Given the description of an element on the screen output the (x, y) to click on. 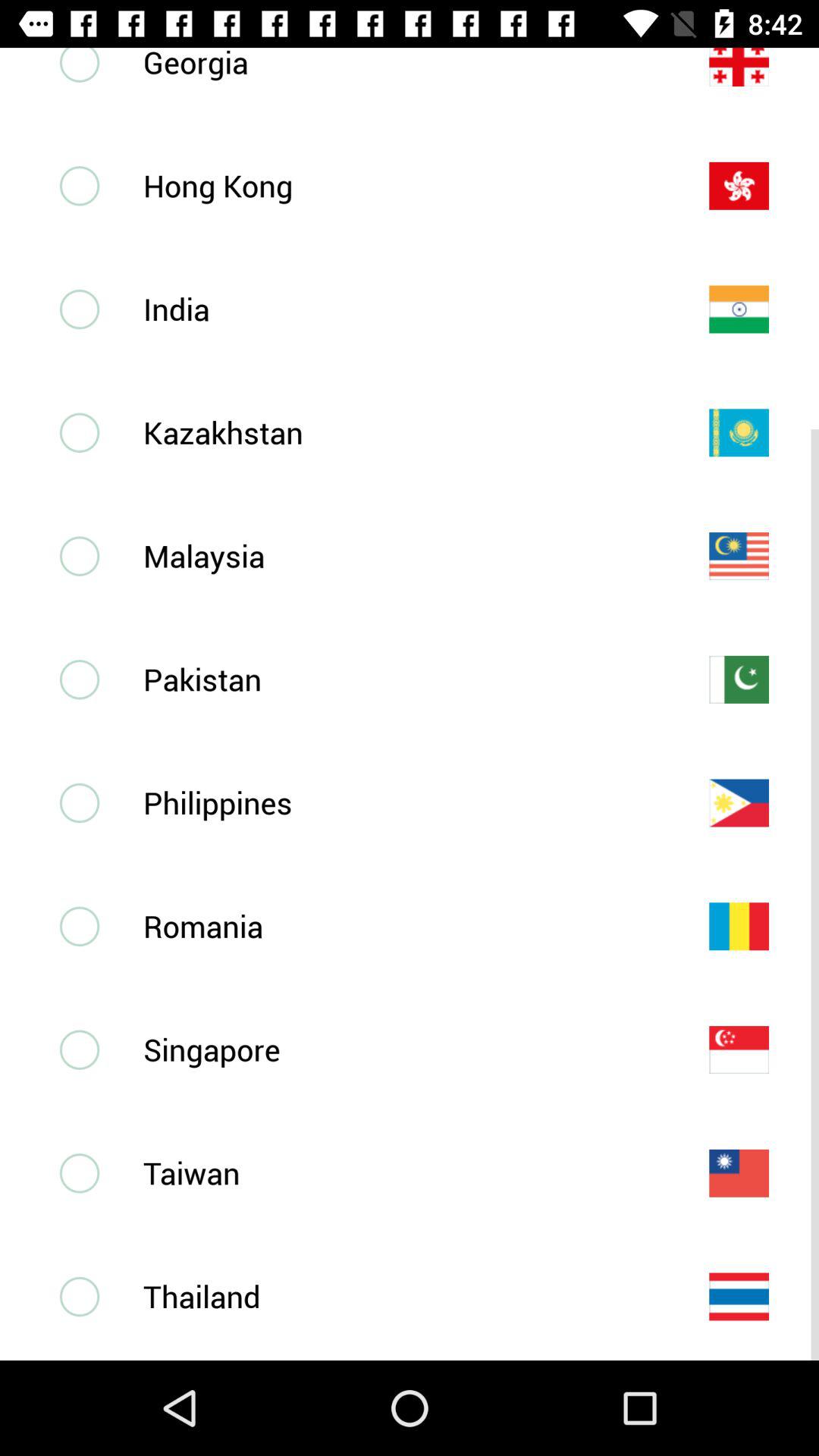
jump until singapore (401, 1049)
